Given the description of an element on the screen output the (x, y) to click on. 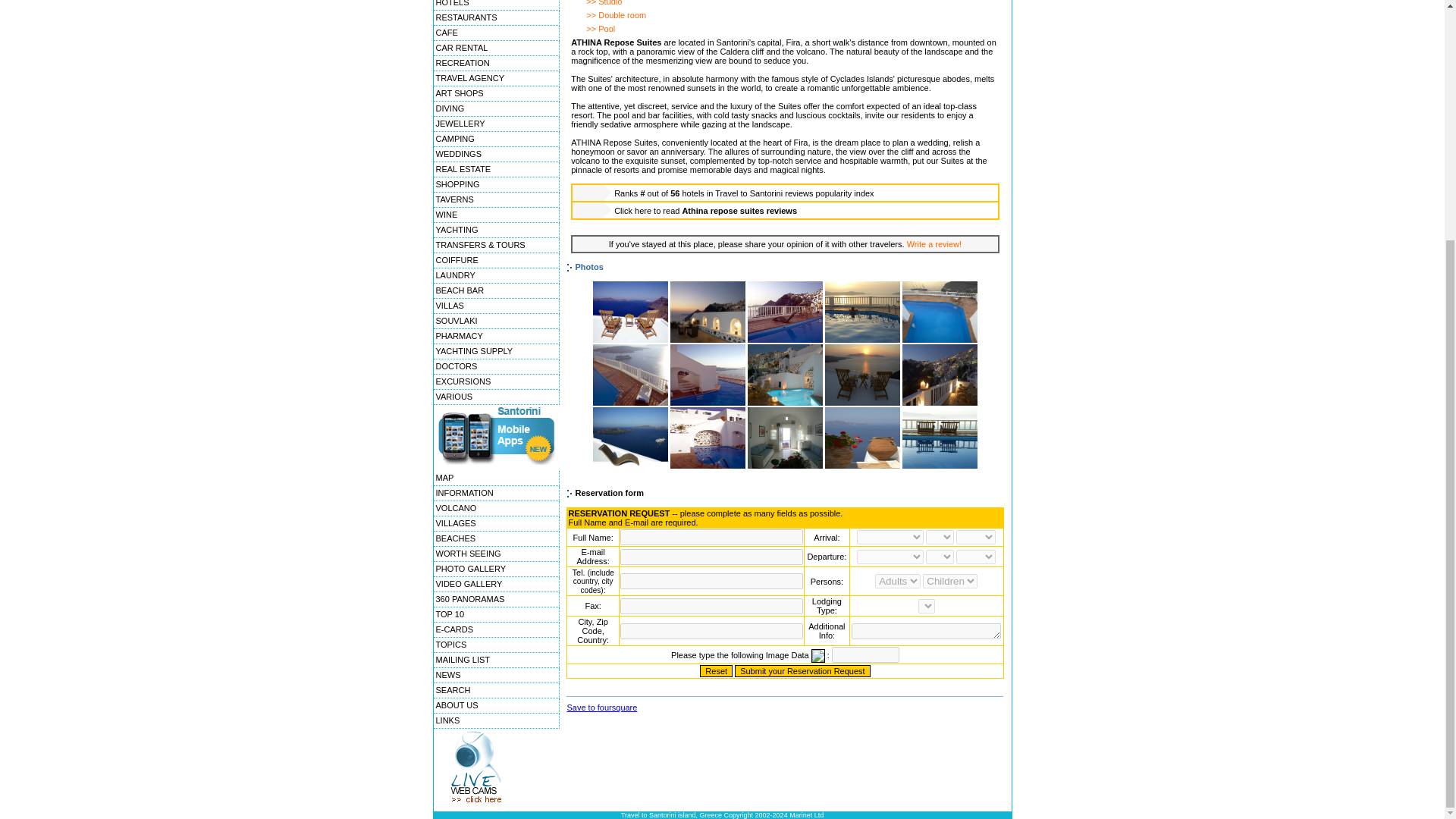
WINE (496, 215)
View of the pool and Fira (785, 338)
TAVERNS (496, 200)
RESTAURANTS (496, 17)
The pool and the volcano in the background (630, 402)
CAFE (496, 32)
PHARMACY (496, 336)
CAR RENTAL (496, 48)
Sunset (862, 402)
VILLAS (496, 305)
